Given the description of an element on the screen output the (x, y) to click on. 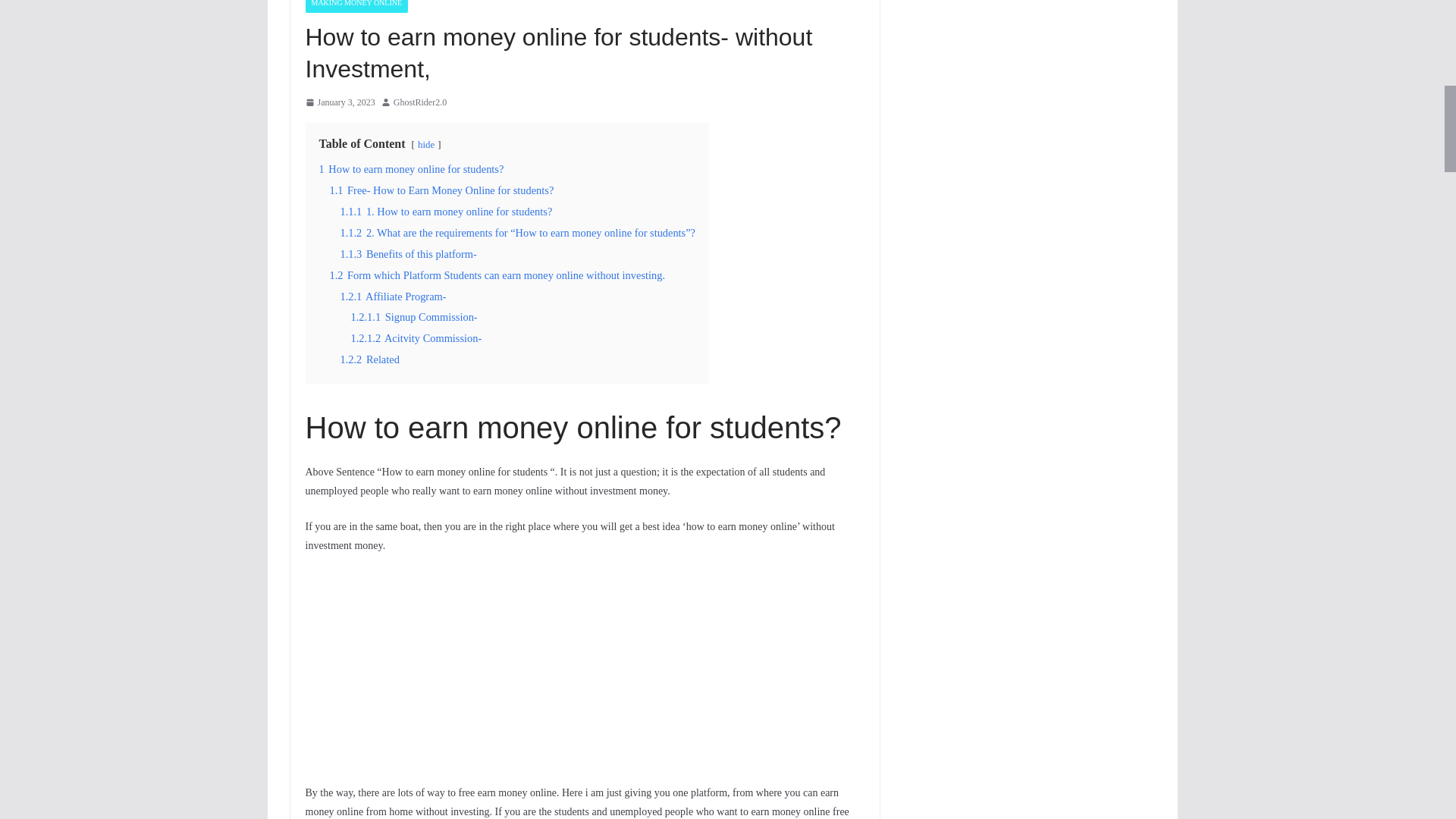
MAKING MONEY ONLINE (355, 6)
1.1.3 Benefits of this platform- (407, 254)
Advertisement (583, 676)
1 How to earn money online for students? (410, 168)
1.2.2 Related (368, 358)
1.2.1 Affiliate Program- (392, 295)
GhostRider2.0 (419, 103)
January 3, 2023 (339, 103)
12:23 pm (339, 103)
GhostRider2.0 (419, 103)
hide (425, 144)
1.1 Free- How to Earn Money Online for students? (441, 190)
1.2.1.1 Signup Commission- (413, 316)
1.1.1 1. How to earn money online for students? (445, 211)
